Given the description of an element on the screen output the (x, y) to click on. 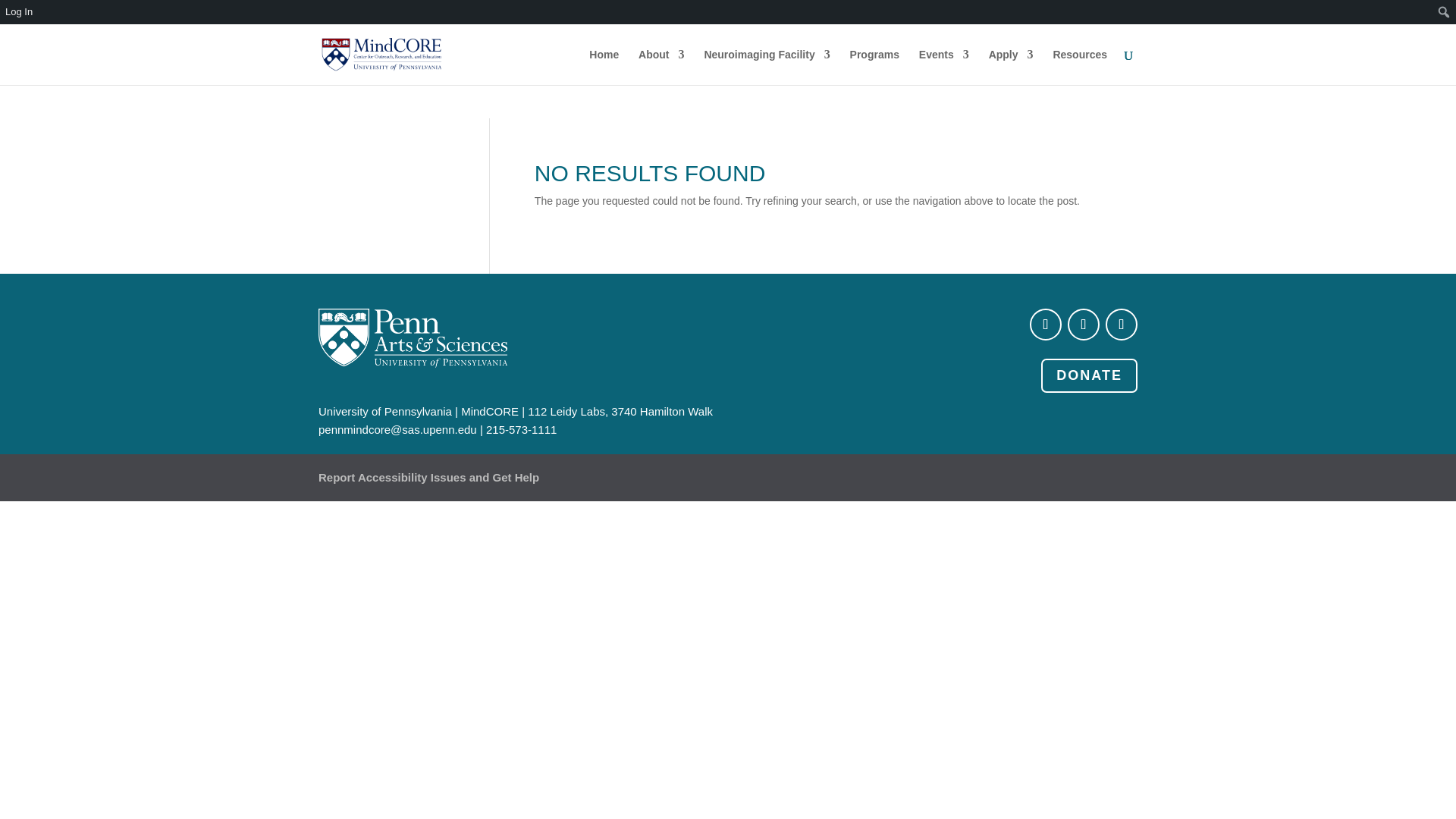
Follow on Facebook (1045, 324)
Resources (1079, 67)
Programs (874, 67)
Follow on Twitter (1083, 324)
About (661, 67)
Neuroimaging Facility (766, 67)
Apply (1010, 67)
Events (943, 67)
Follow on Youtube (1121, 324)
